Given the description of an element on the screen output the (x, y) to click on. 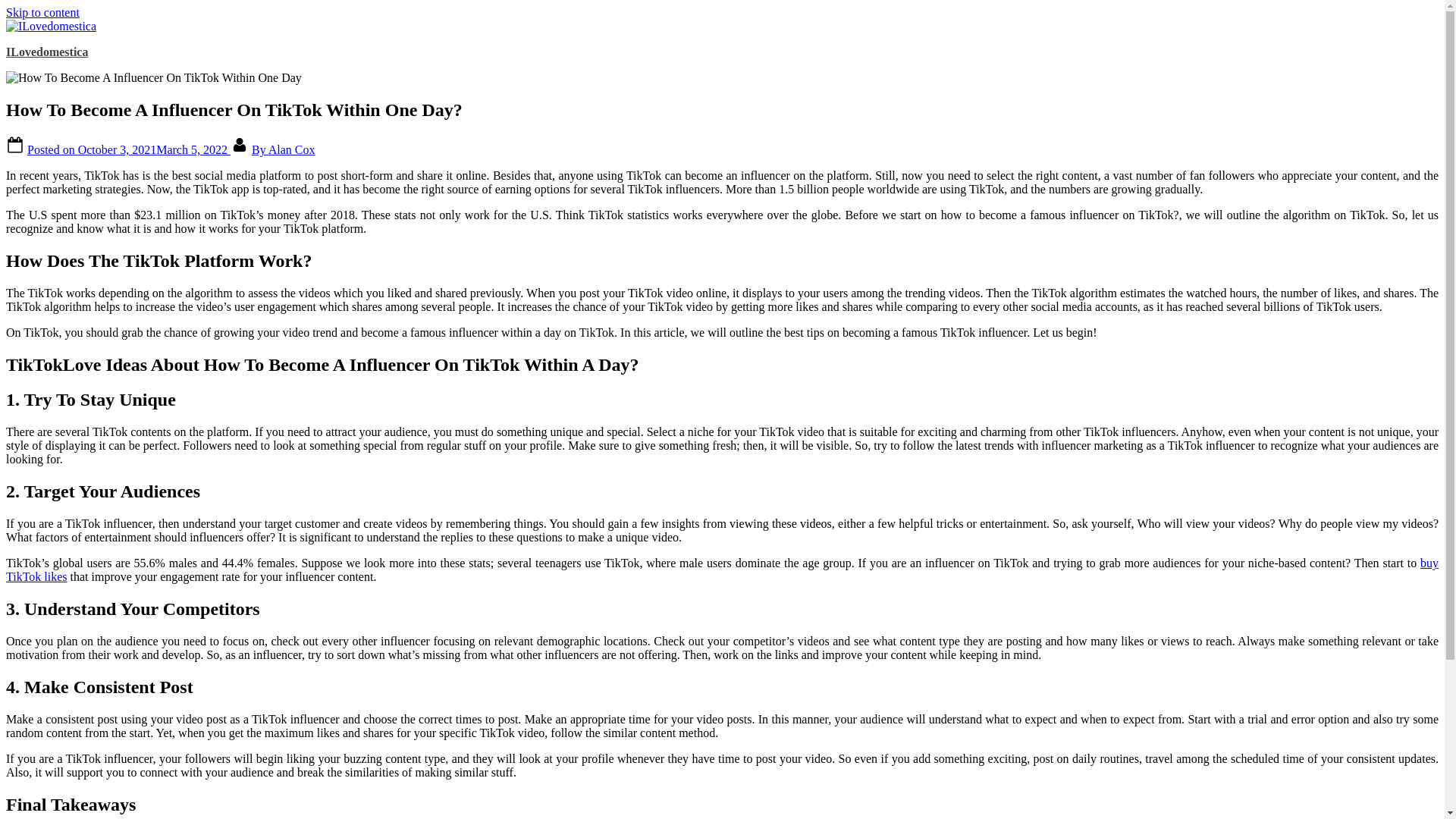
Skip to content (42, 11)
By Alan Cox (283, 149)
Posted on October 3, 2021March 5, 2022 (128, 149)
ILovedomestica (46, 51)
